Given the description of an element on the screen output the (x, y) to click on. 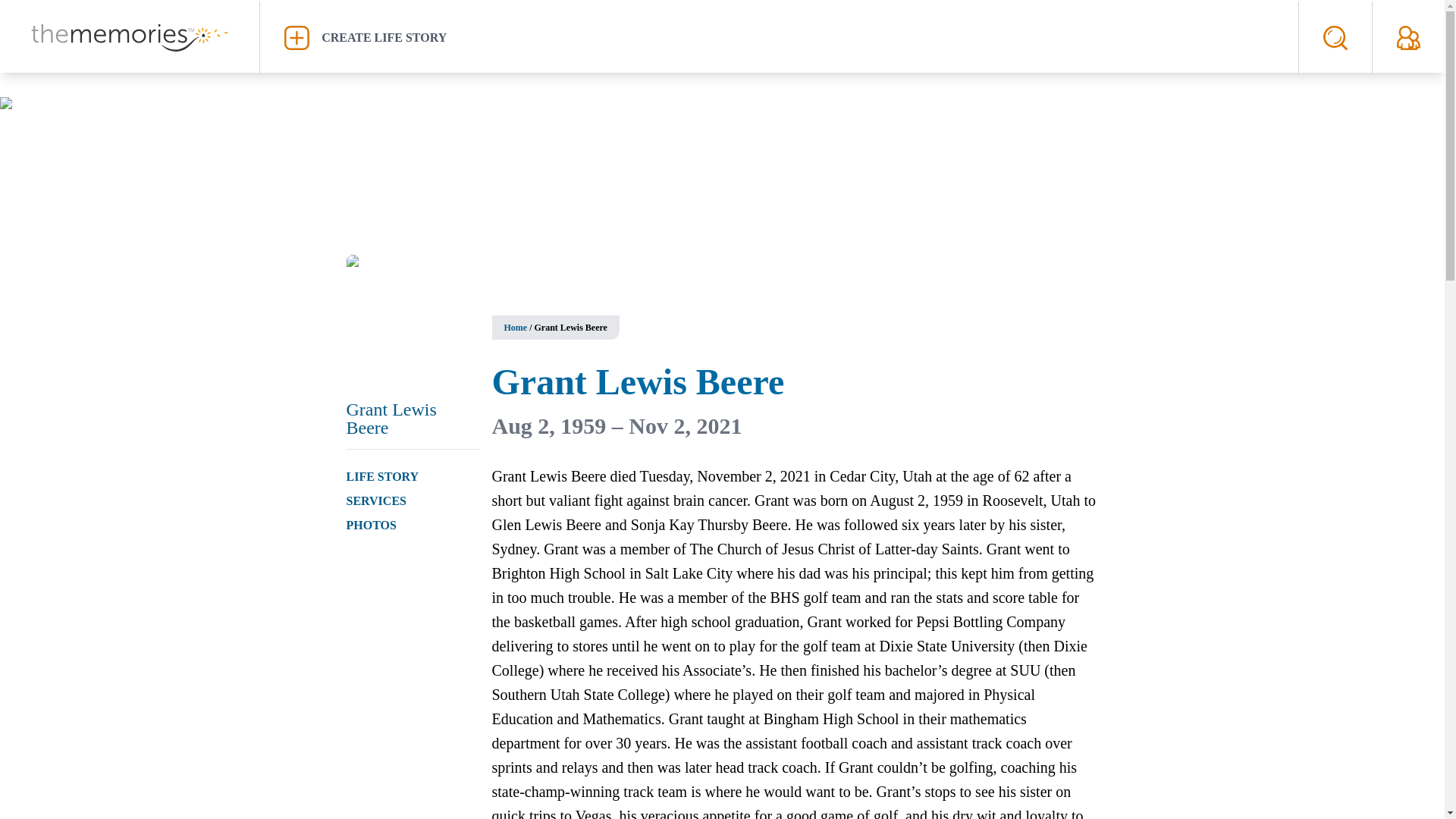
My Account (1408, 37)
CREATE LIFE STORY (778, 37)
Home (515, 327)
SERVICES (376, 500)
LIFE STORY (382, 476)
PHOTOS (371, 524)
Create a life story (778, 37)
